Given the description of an element on the screen output the (x, y) to click on. 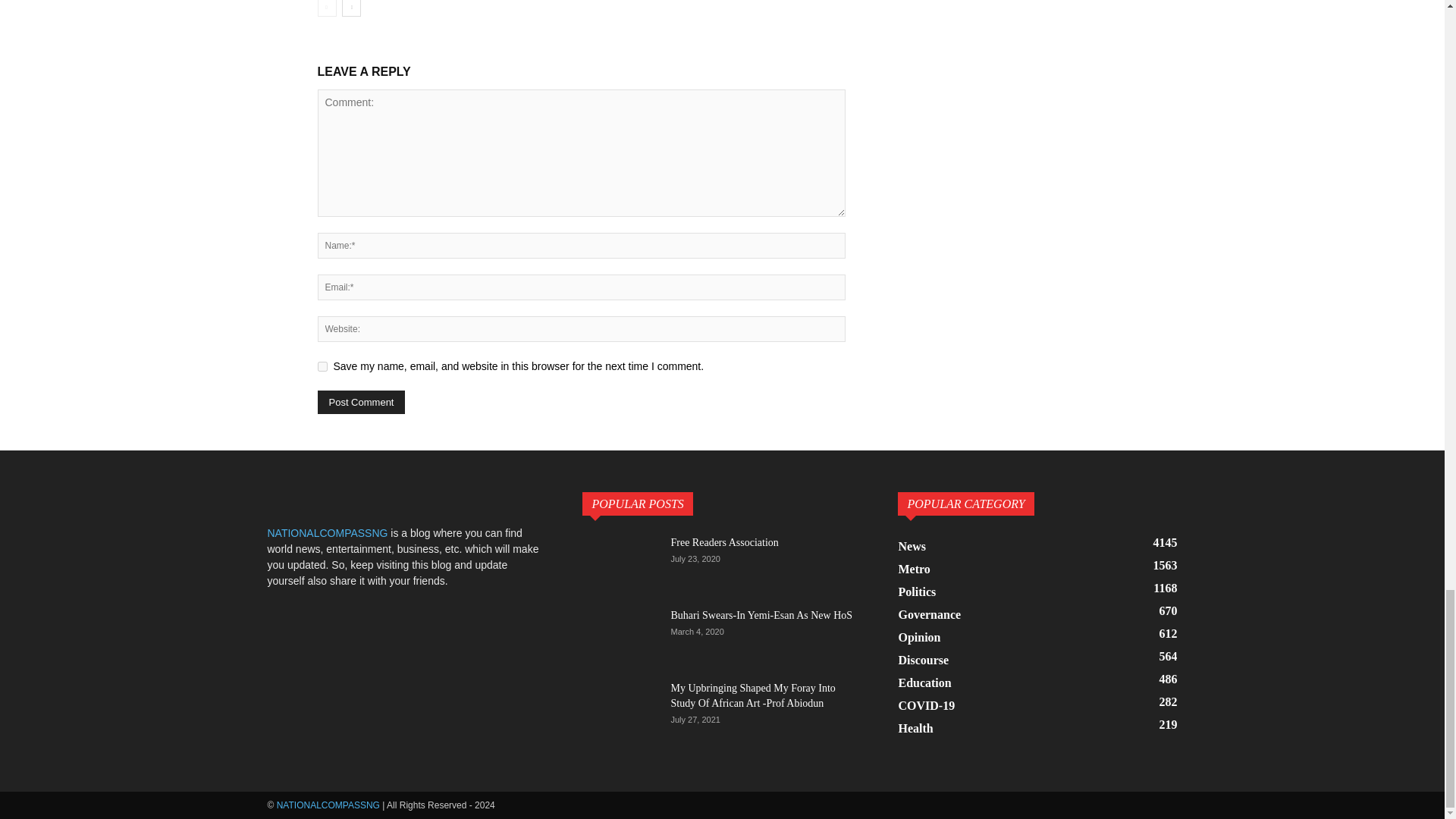
yes (321, 366)
Post Comment (360, 402)
